Given the description of an element on the screen output the (x, y) to click on. 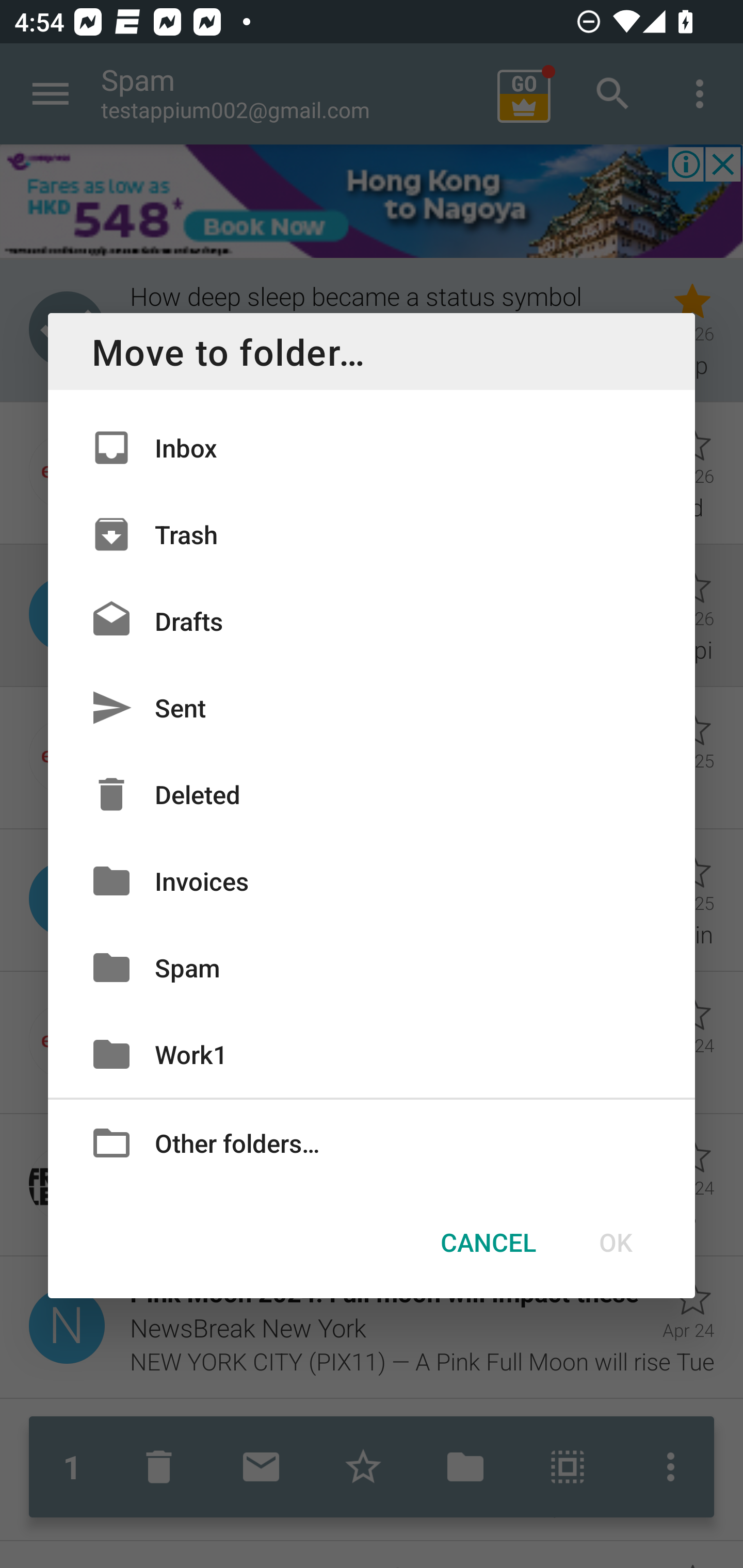
Inbox (371, 447)
Trash (371, 533)
Drafts (371, 620)
Sent (371, 707)
Deleted (371, 794)
Invoices (371, 880)
Spam (371, 967)
Work1 (371, 1054)
Other folders… (371, 1141)
CANCEL (488, 1241)
OK (615, 1241)
